Given the description of an element on the screen output the (x, y) to click on. 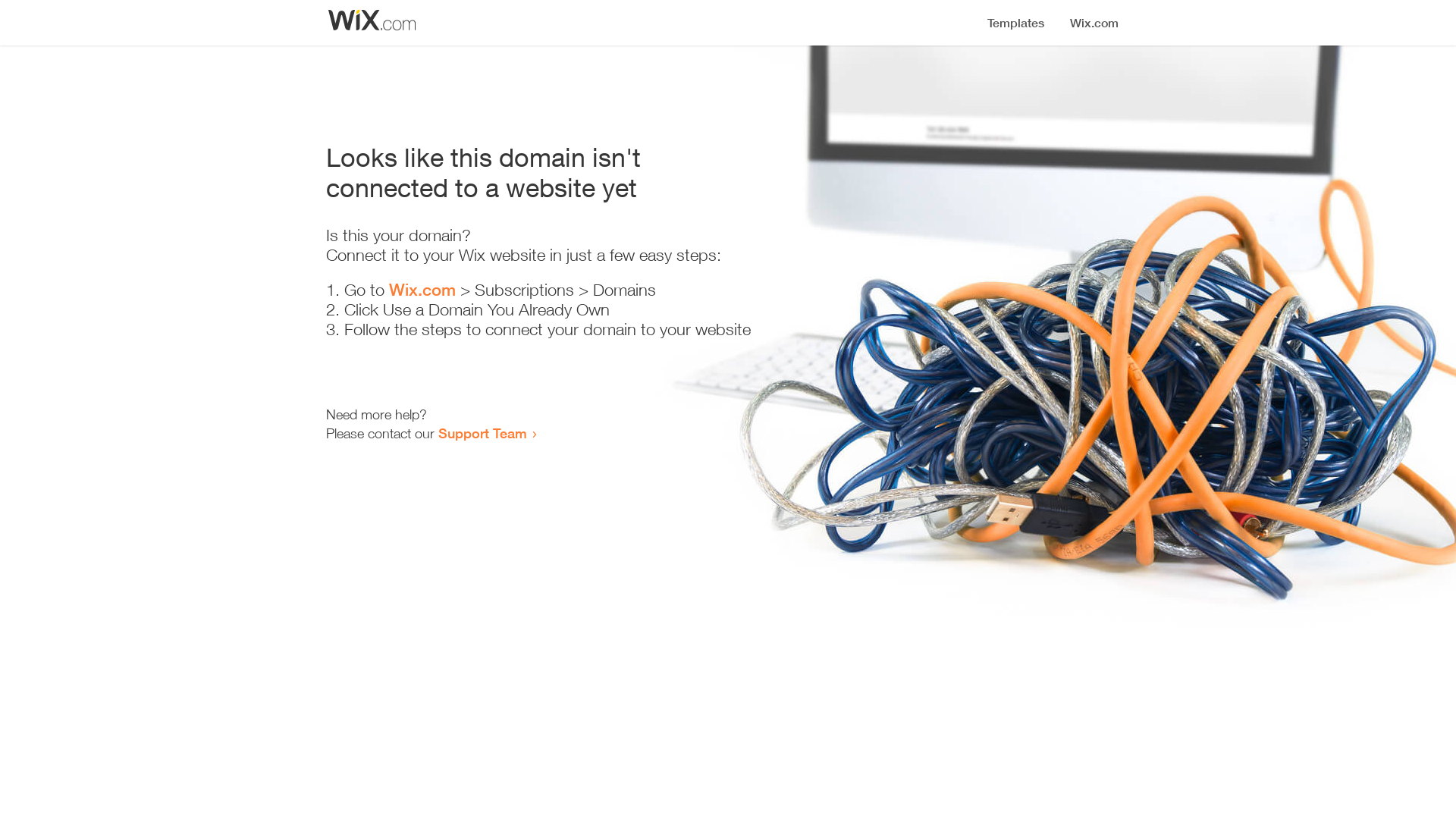
Support Team Element type: text (482, 432)
Wix.com Element type: text (422, 289)
